Given the description of an element on the screen output the (x, y) to click on. 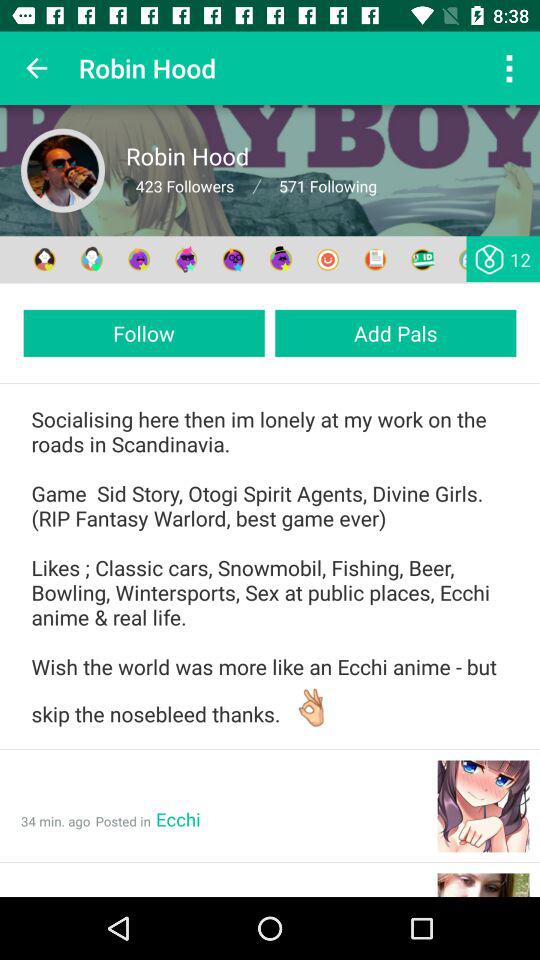
turn off follow item (143, 332)
